Given the description of an element on the screen output the (x, y) to click on. 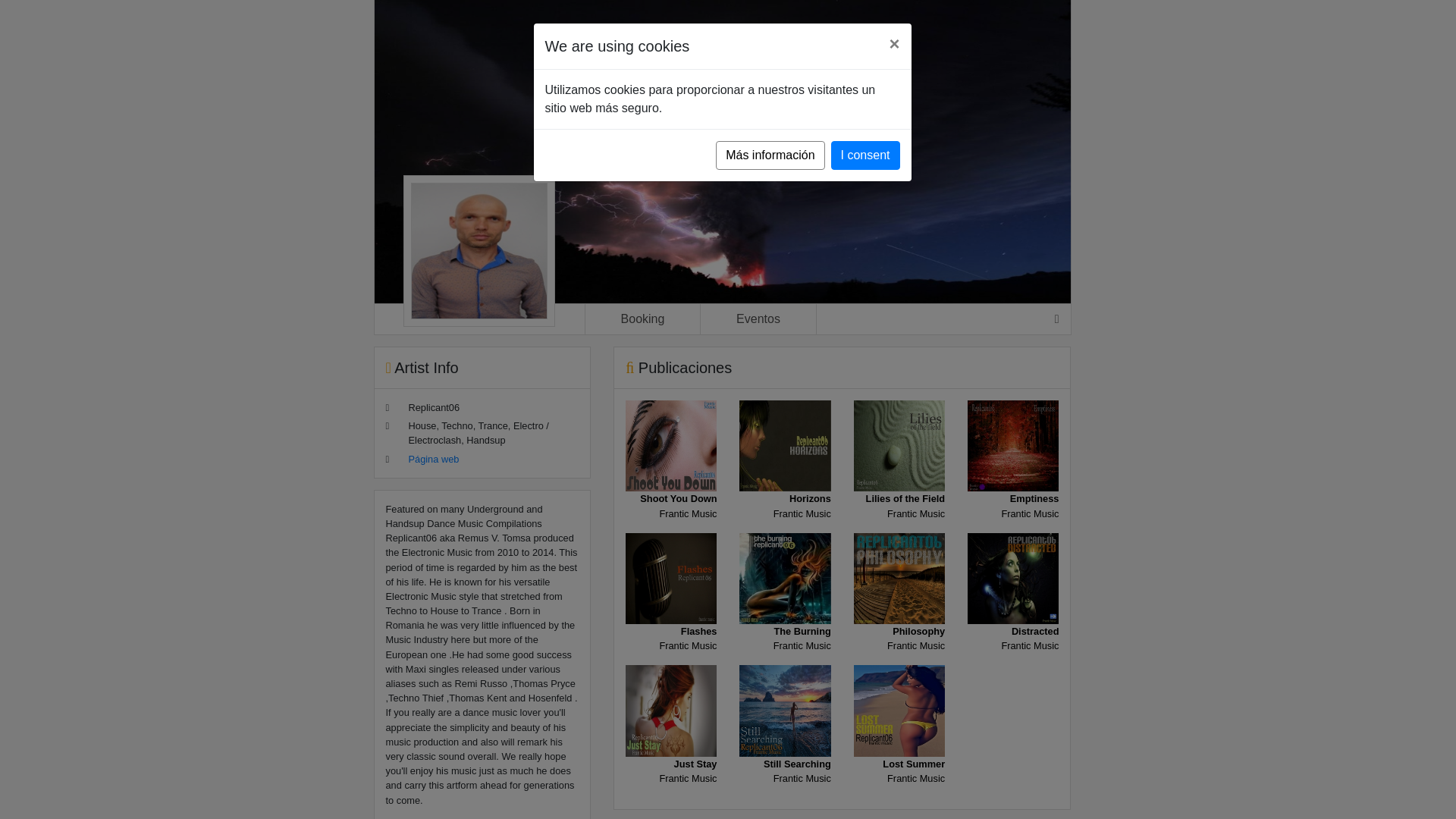
Booking (898, 479)
Eventos (784, 479)
